Given the description of an element on the screen output the (x, y) to click on. 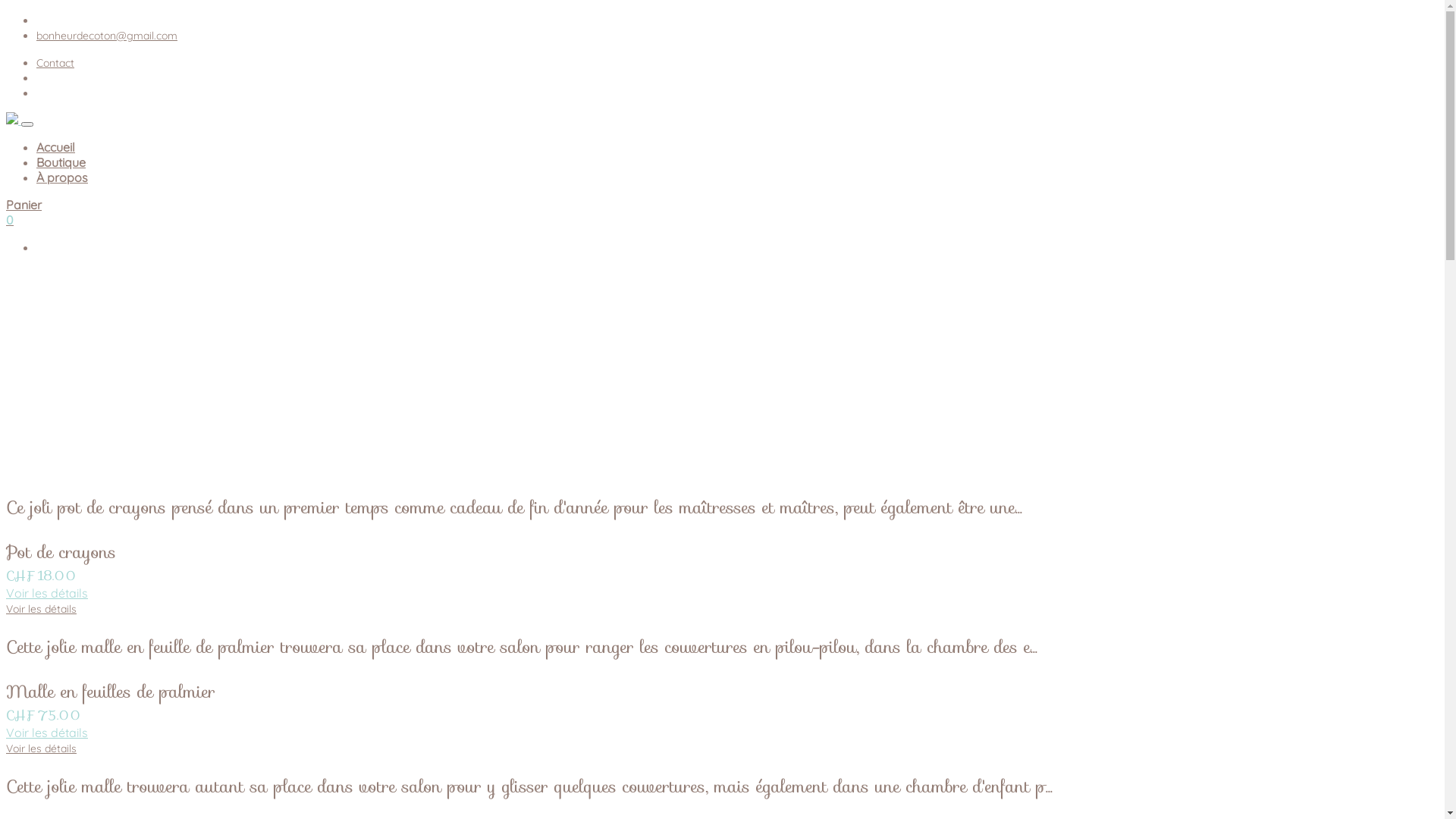
Panier
0 Element type: text (722, 212)
Contact Element type: text (55, 62)
Accueil Element type: text (55, 146)
Boutique Element type: text (60, 161)
bonheurdecoton@gmail.com Element type: text (106, 35)
